Given the description of an element on the screen output the (x, y) to click on. 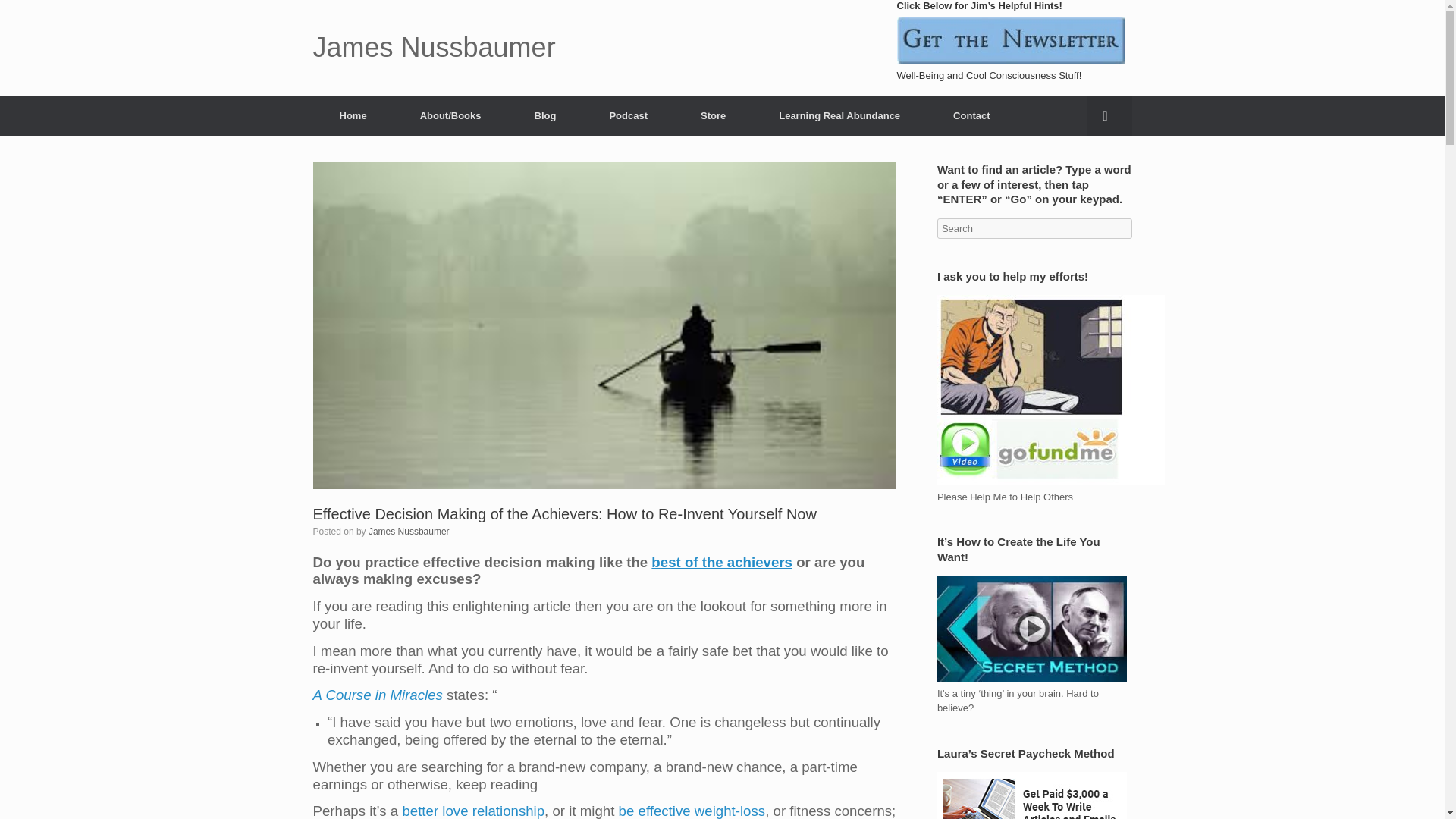
James Nussbaumer (408, 531)
Podcast (628, 115)
better love relationship (472, 811)
James Nussbaumer (433, 47)
Contact (971, 115)
View all posts by James Nussbaumer (408, 531)
Click Below for Jim's Helpful Hints! (1010, 39)
A Course in Miracles (377, 694)
Home (353, 115)
Learning Real Abundance (839, 115)
